Given the description of an element on the screen output the (x, y) to click on. 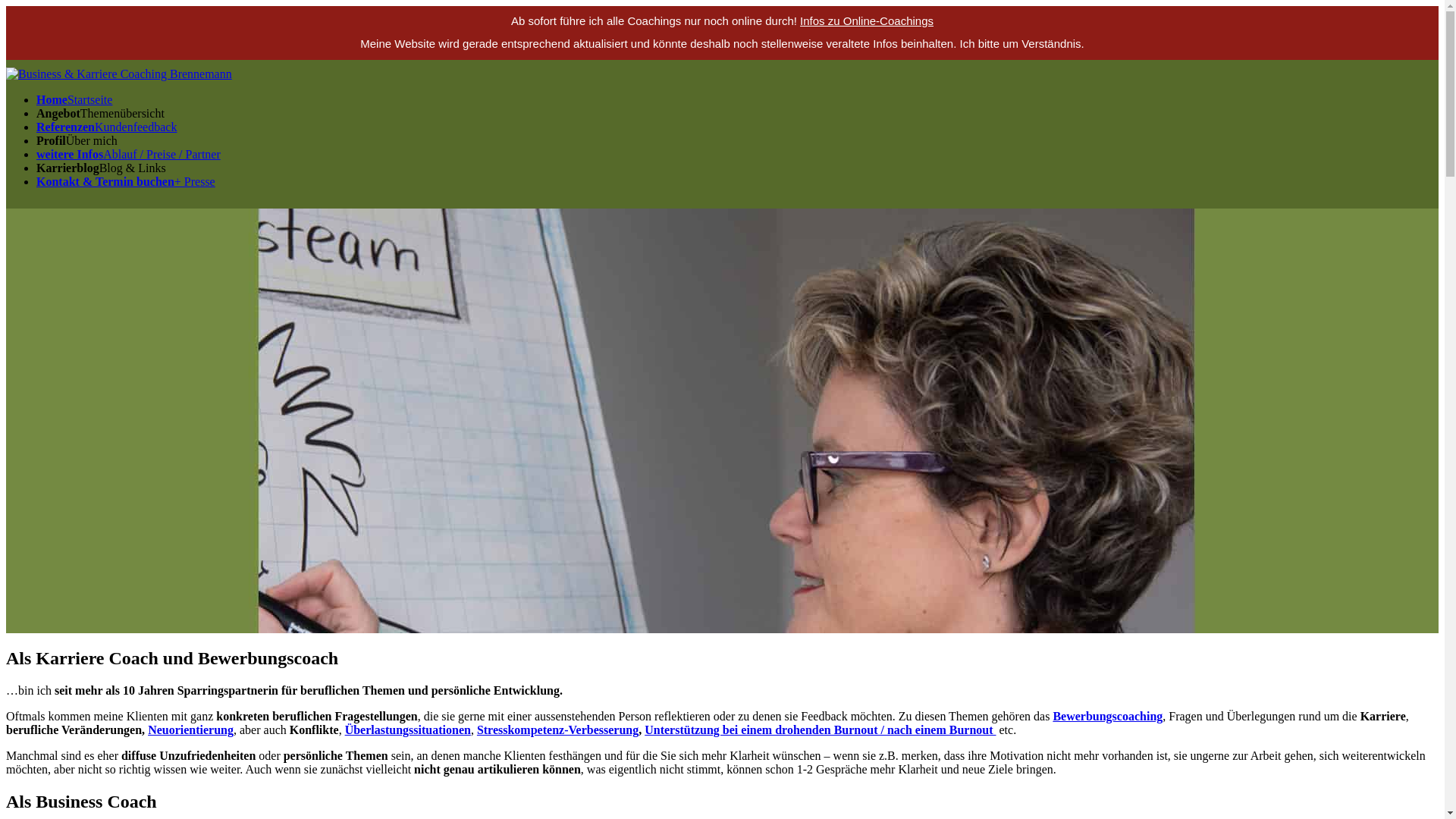
Bewerbungscoaching Element type: text (1107, 715)
weitere InfosAblauf / Preise / Partner Element type: text (128, 153)
Neuorientierung Element type: text (190, 729)
Kontakt & Termin buchen+ Presse Element type: text (125, 181)
KarrierblogBlog & Links Element type: text (101, 167)
Infos zu Online-Coachings Element type: text (866, 20)
ReferenzenKundenfeedback Element type: text (106, 126)
Stresskompetenz-Verbesserung Element type: text (557, 729)
HomeStartseite Element type: text (74, 99)
